Given the description of an element on the screen output the (x, y) to click on. 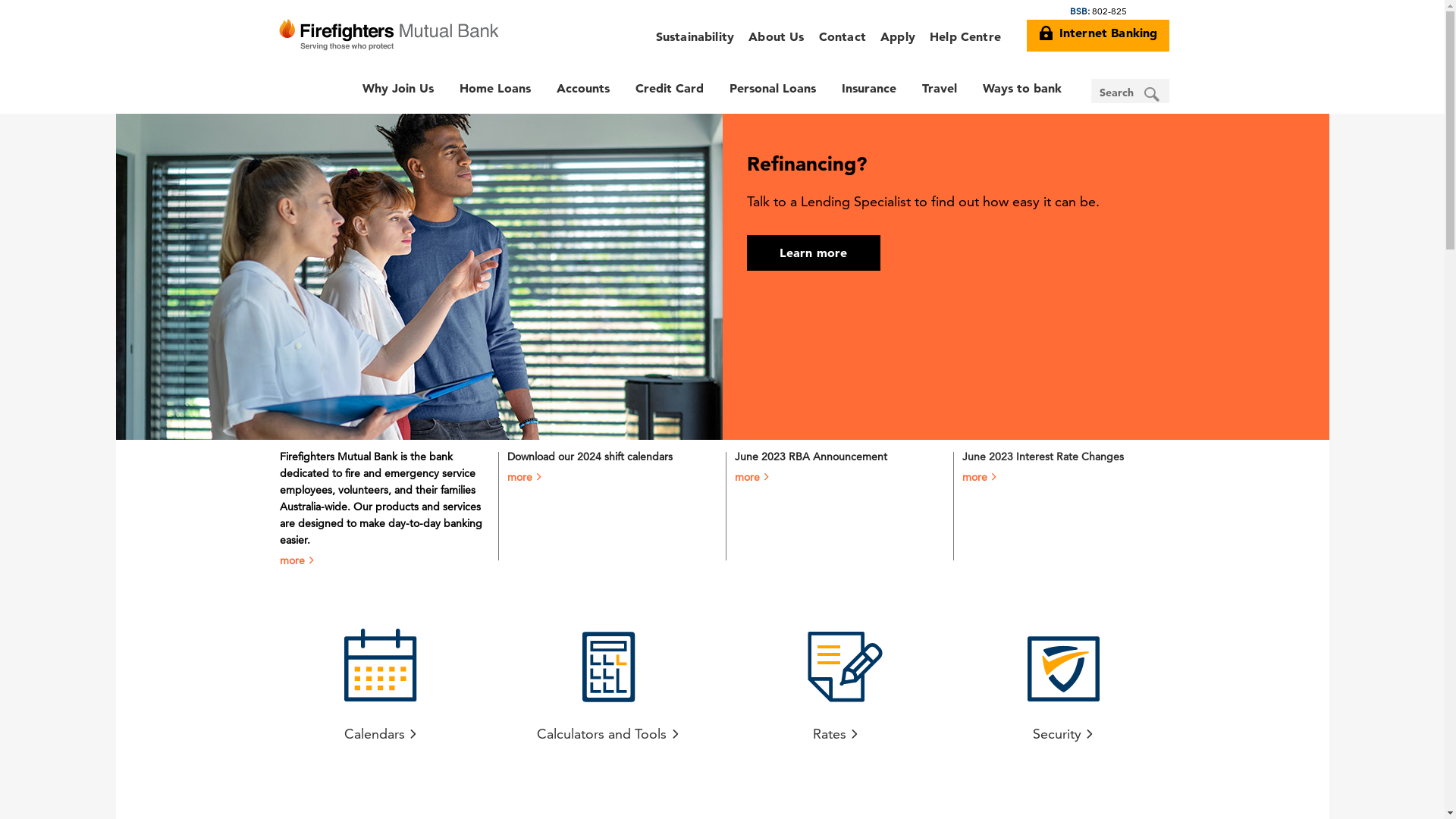
Personal Loans Element type: text (771, 88)
June 2023 Interest Rate Changes Element type: text (1042, 456)
June 2023 RBA Announcement Element type: text (810, 456)
Accounts Element type: text (582, 88)
Credit Card Element type: text (668, 88)
Learn more Element type: text (812, 252)
Why Join Us Element type: text (397, 88)
Download our 2024 shift calendars Element type: text (588, 456)
more Element type: text (751, 476)
Security Element type: text (1063, 680)
Rates Element type: text (835, 680)
Ways to bank Element type: text (1021, 88)
more Element type: text (979, 476)
Calendars Element type: text (380, 680)
Internet Banking Element type: text (1097, 35)
Home Loans Element type: text (494, 88)
Sustainability Element type: text (694, 36)
About Us Element type: text (776, 36)
Contact Element type: text (841, 36)
Apply Element type: text (897, 36)
Calculators and Tools Element type: text (608, 680)
Travel Element type: text (938, 88)
more Element type: text (296, 560)
Insurance Element type: text (867, 88)
Skip to content Element type: text (721, 0)
Help Centre Element type: text (964, 36)
more Element type: text (524, 476)
